Given the description of an element on the screen output the (x, y) to click on. 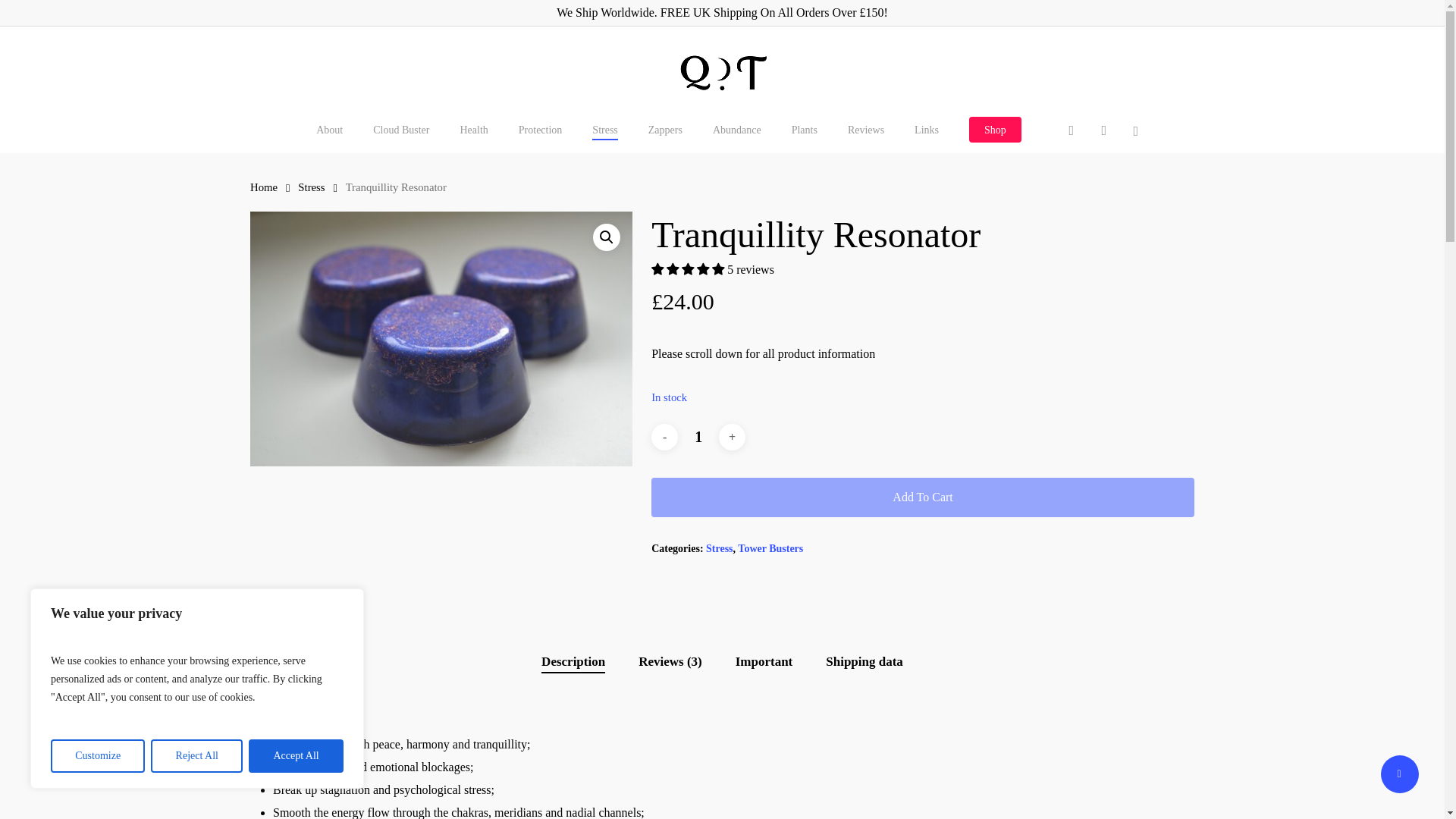
1 (698, 437)
Protection (540, 137)
Health (473, 137)
About (328, 137)
Accept All (295, 756)
Tranquillity Resonators (440, 338)
- (664, 437)
Cloud Buster (400, 137)
Customize (97, 756)
Reject All (197, 756)
